Given the description of an element on the screen output the (x, y) to click on. 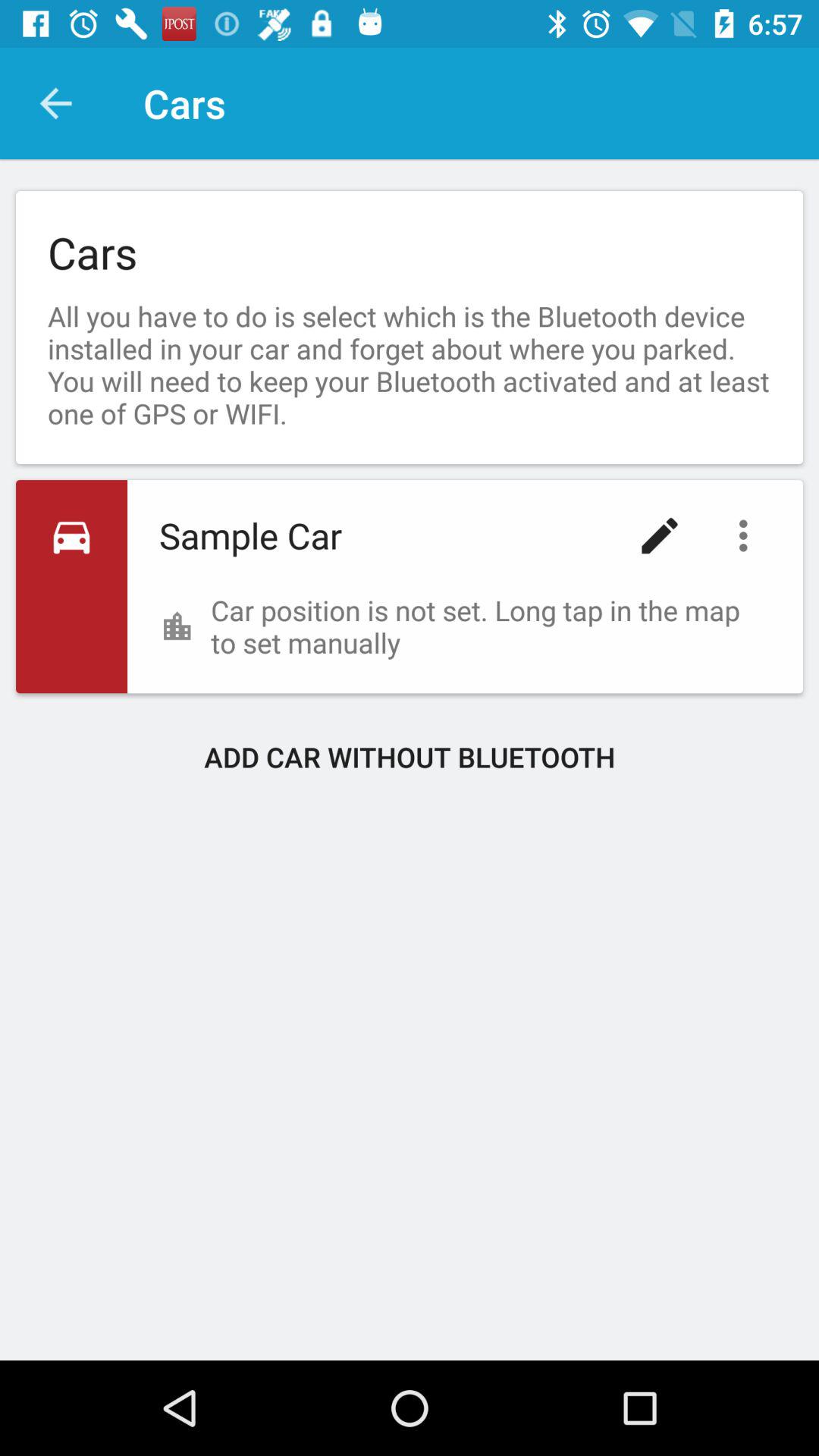
launch icon below the all you have icon (659, 535)
